Given the description of an element on the screen output the (x, y) to click on. 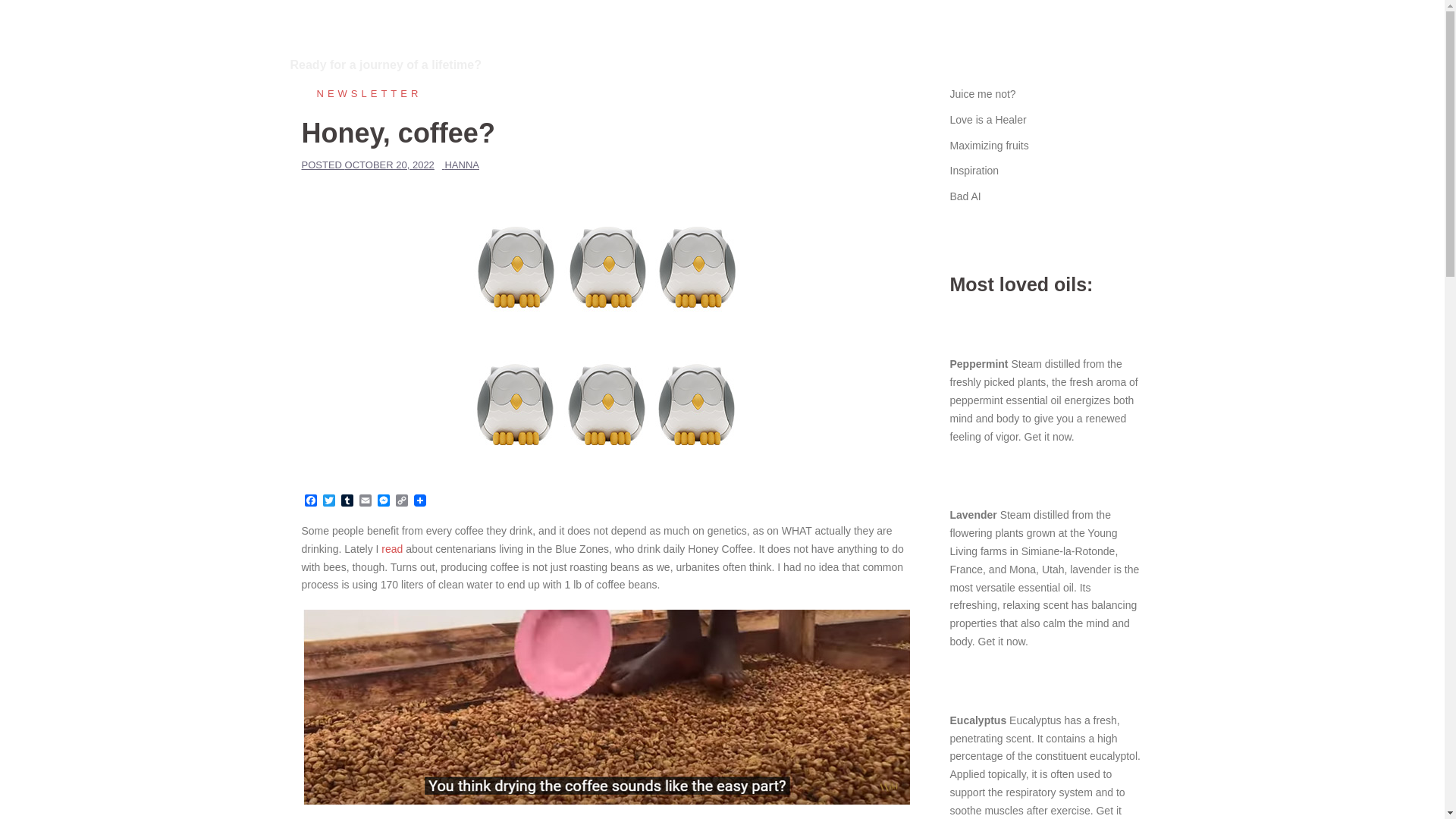
Copy Link (401, 501)
A healthy question (1042, 45)
Essential Oils 101 (871, 45)
Email (365, 501)
Newsletter (361, 93)
OCTOBER 20, 2022 (389, 164)
Tumblr (346, 501)
Tumblr (346, 501)
NEWSLETTER (361, 93)
Twitter (328, 501)
Copy Link (401, 501)
HANNA (461, 164)
Newsletter (783, 45)
Contact (1124, 45)
Messenger (383, 501)
